Given the description of an element on the screen output the (x, y) to click on. 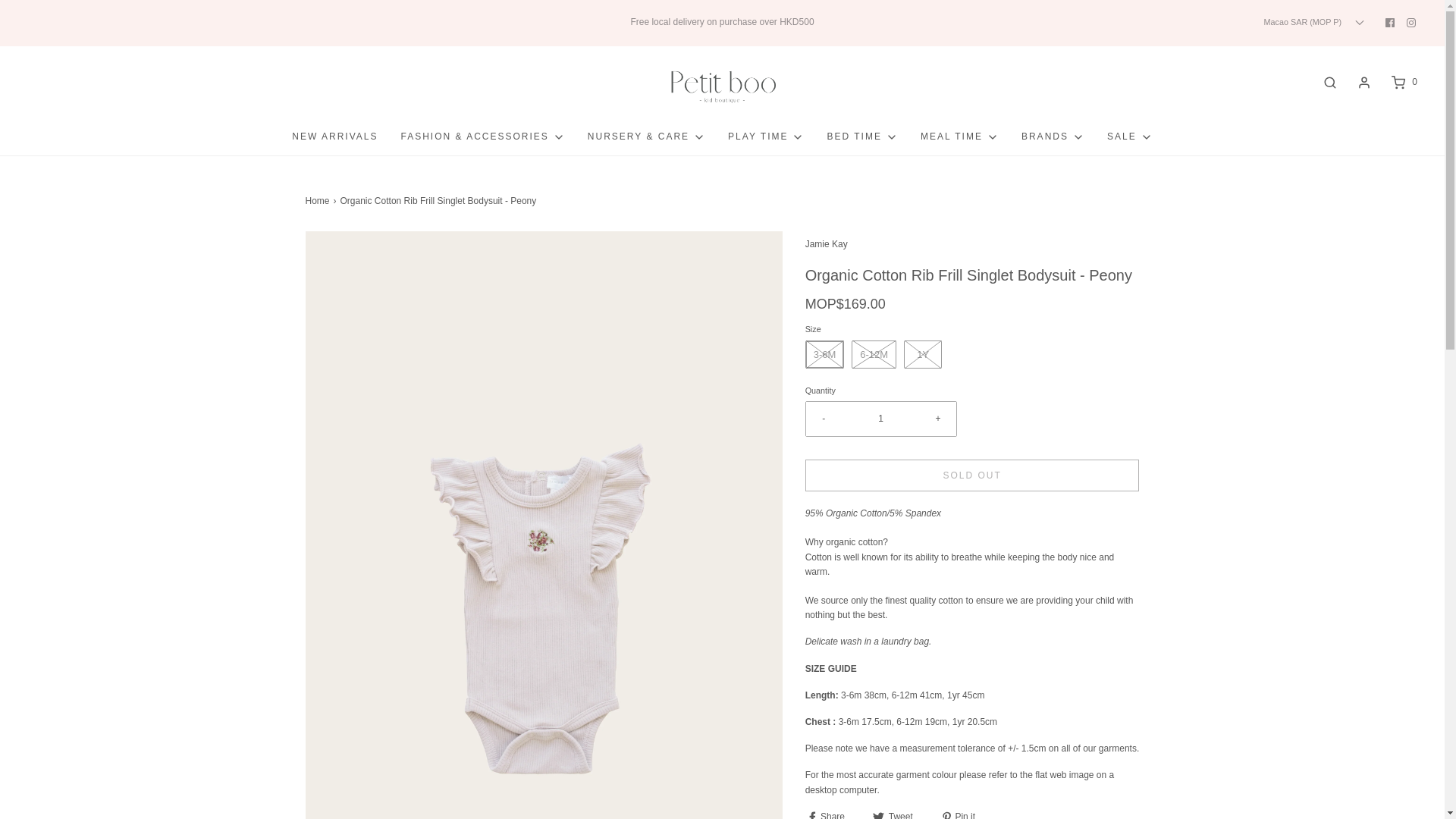
1 (881, 418)
Instagram icon (1410, 22)
Log in (1364, 82)
Back to the frontpage (318, 201)
0 (1403, 82)
NEW ARRIVALS (334, 136)
Facebook icon (1390, 22)
Instagram icon (1411, 22)
Facebook icon (1389, 22)
Search (1329, 82)
